Given the description of an element on the screen output the (x, y) to click on. 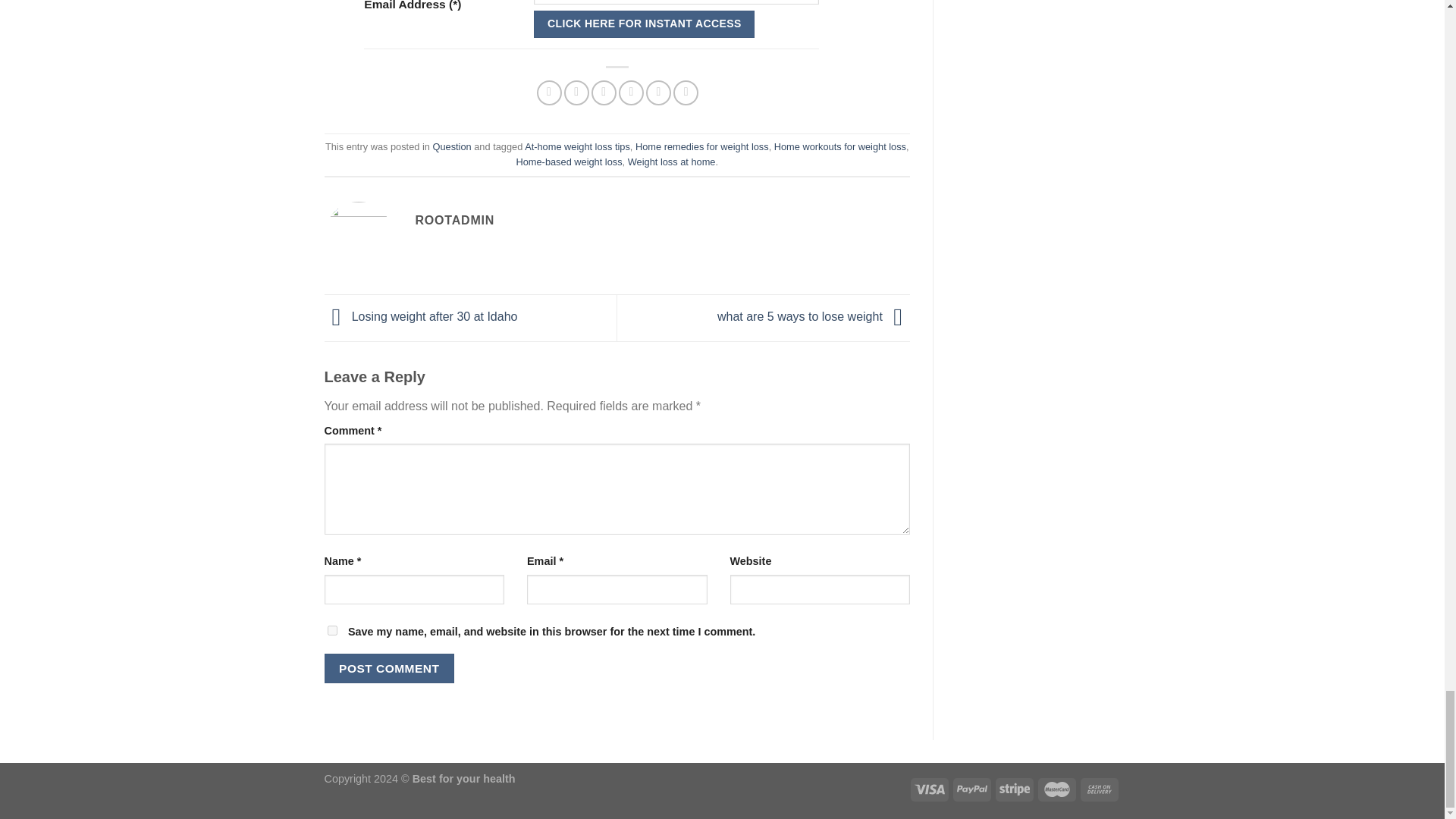
Post Comment (389, 668)
Click here for instant access (644, 23)
yes (332, 630)
